Given the description of an element on the screen output the (x, y) to click on. 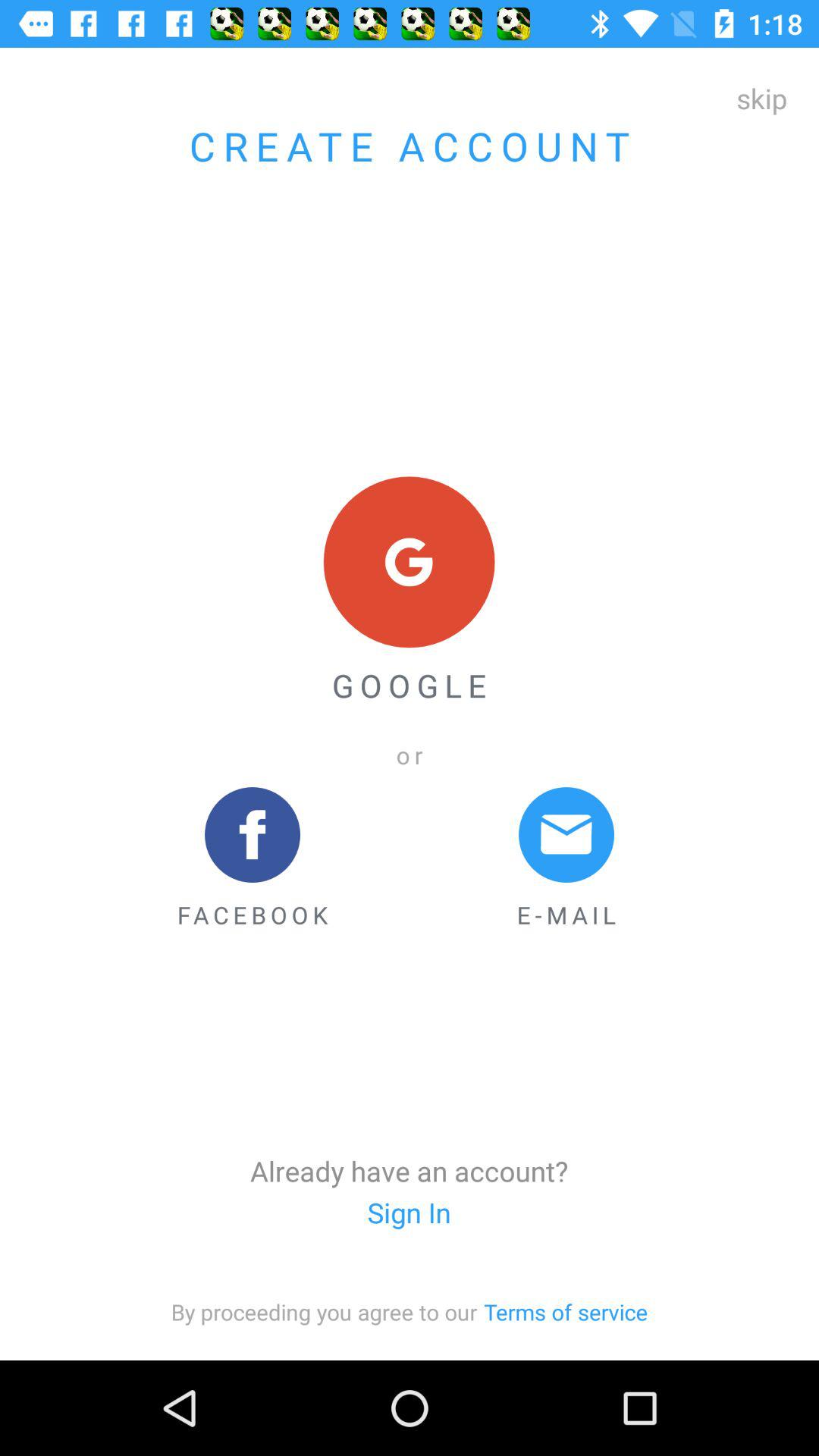
select icon next to (565, 1311)
